Given the description of an element on the screen output the (x, y) to click on. 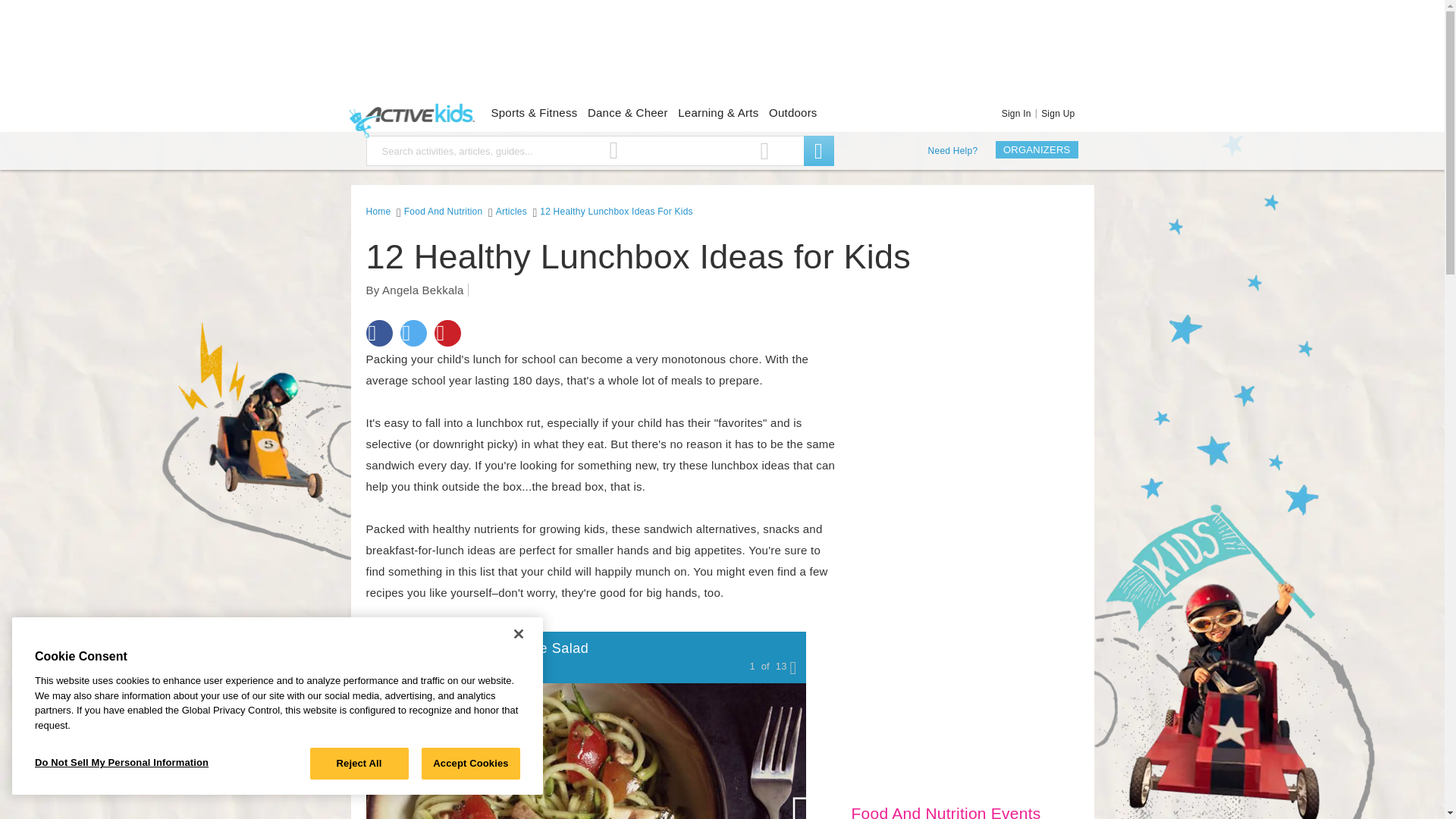
Share on Twitter (413, 333)
Share on Pinterest (446, 333)
Share on Facebook (378, 333)
3rd party ad content (721, 53)
